Given the description of an element on the screen output the (x, y) to click on. 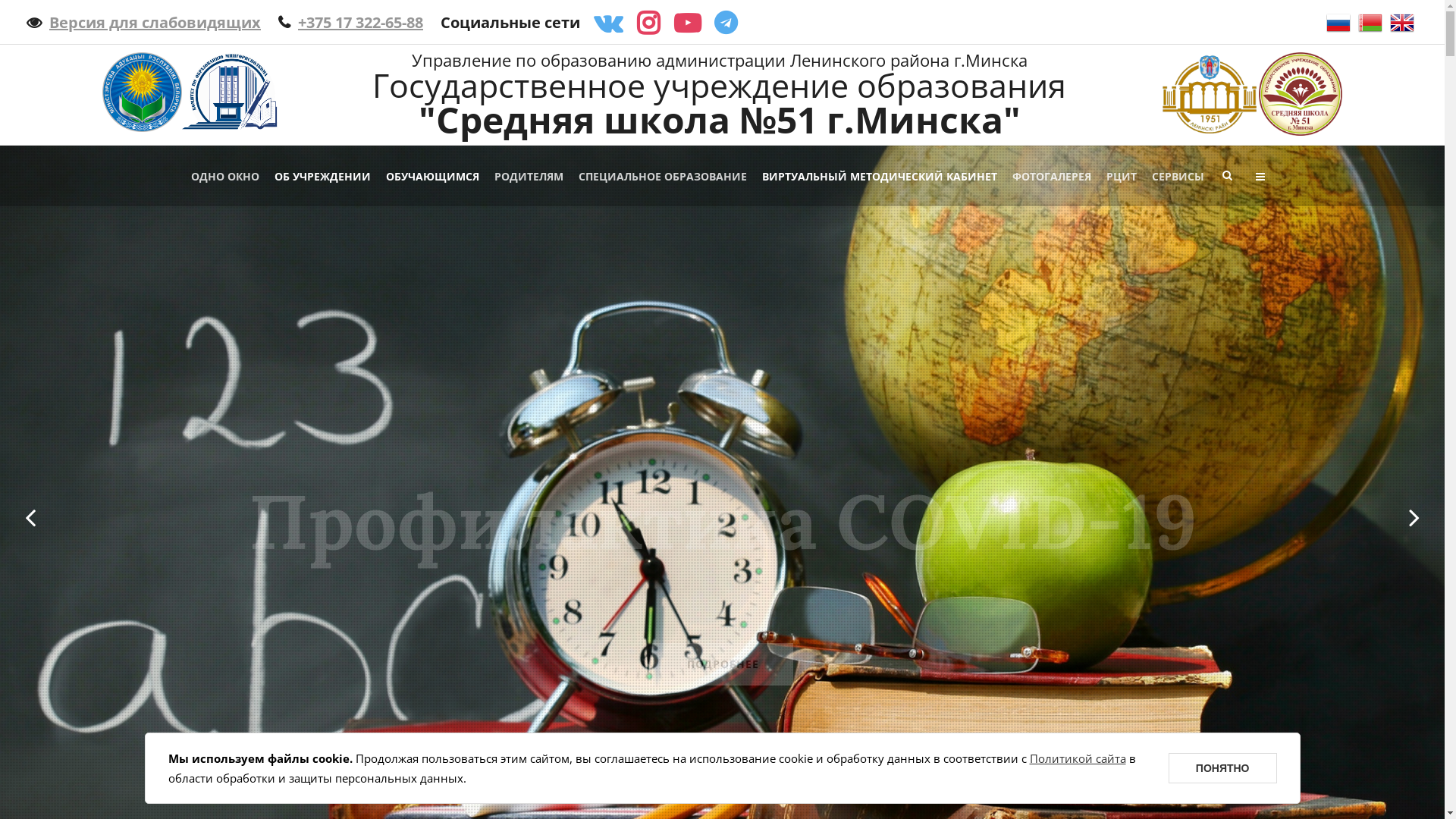
+375 17 322-65-88 Element type: text (350, 22)
